Given the description of an element on the screen output the (x, y) to click on. 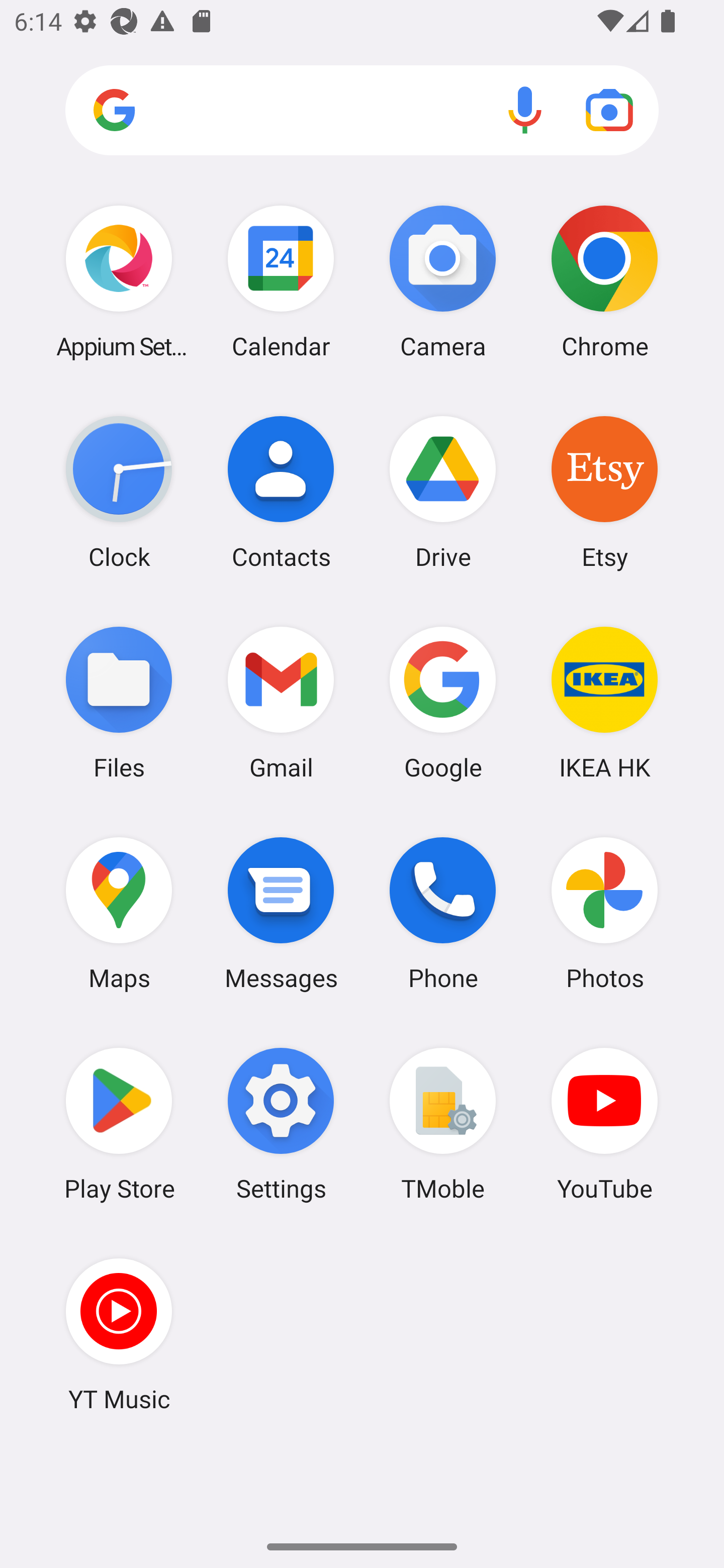
Search apps, web and more (361, 110)
Voice search (524, 109)
Google Lens (608, 109)
Appium Settings (118, 281)
Calendar (280, 281)
Camera (443, 281)
Chrome (604, 281)
Clock (118, 492)
Contacts (280, 492)
Drive (443, 492)
Etsy (604, 492)
Files (118, 702)
Gmail (280, 702)
Google (443, 702)
IKEA HK (604, 702)
Maps (118, 913)
Messages (280, 913)
Phone (443, 913)
Photos (604, 913)
Play Store (118, 1124)
Settings (280, 1124)
TMoble (443, 1124)
YouTube (604, 1124)
YT Music (118, 1334)
